Given the description of an element on the screen output the (x, y) to click on. 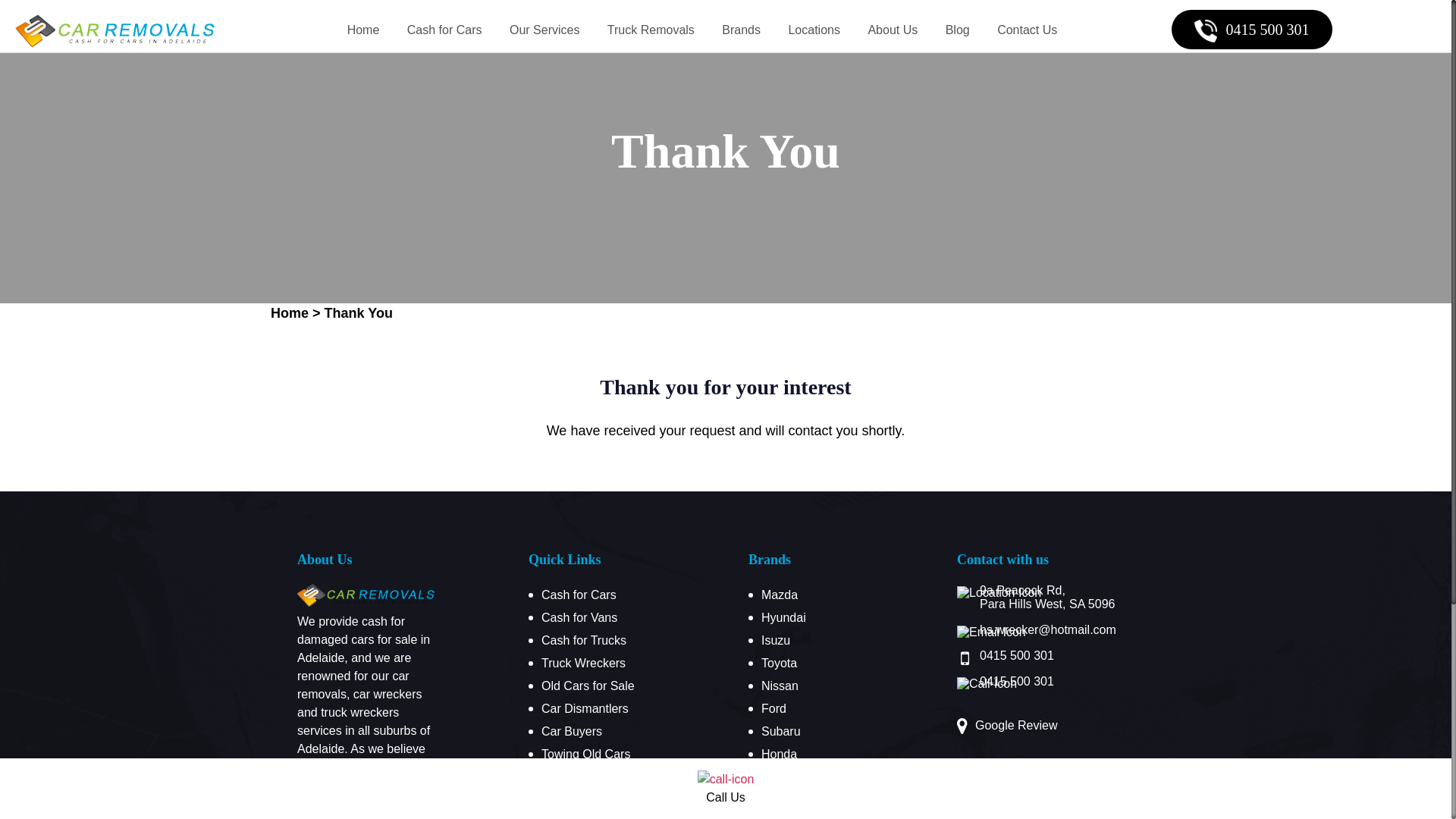
Brands Element type: text (769, 559)
Towing Old Cars Element type: text (585, 753)
hs.wrecker@hotmail.com Element type: text (1047, 629)
Car Buyers Element type: text (571, 730)
Cash for Cars Element type: text (444, 30)
Cash for Vans Element type: text (579, 617)
Mazda Element type: text (779, 594)
Truck Wreckers Element type: text (583, 662)
Google Review Element type: text (1016, 725)
Honda Element type: text (779, 753)
About Us Element type: text (892, 30)
0415 500 301 Element type: text (1251, 29)
BMW Element type: text (775, 776)
Locations Element type: text (813, 30)
Blog Element type: text (957, 30)
Brands Element type: text (740, 30)
Contact Us Element type: text (571, 776)
Suzuki Element type: text (779, 799)
0415 500 301 Element type: text (1016, 655)
Contact Us Element type: text (1027, 30)
Home Element type: text (363, 30)
Cash for Trucks Element type: text (583, 639)
Truck Removals Element type: text (650, 30)
Hyundai Element type: text (783, 617)
Ford Element type: text (773, 708)
Old Cars for Sale Element type: text (587, 685)
Car Dismantlers Element type: text (584, 708)
Nissan Element type: text (779, 685)
Cash for Cars Element type: text (578, 594)
Location Element type: text (564, 799)
Our Services Element type: text (544, 30)
Isuzu Element type: text (775, 639)
Home Element type: text (289, 312)
Toyota Element type: text (779, 662)
Subaru Element type: text (780, 730)
0415 500 301 Element type: text (1016, 680)
